Given the description of an element on the screen output the (x, y) to click on. 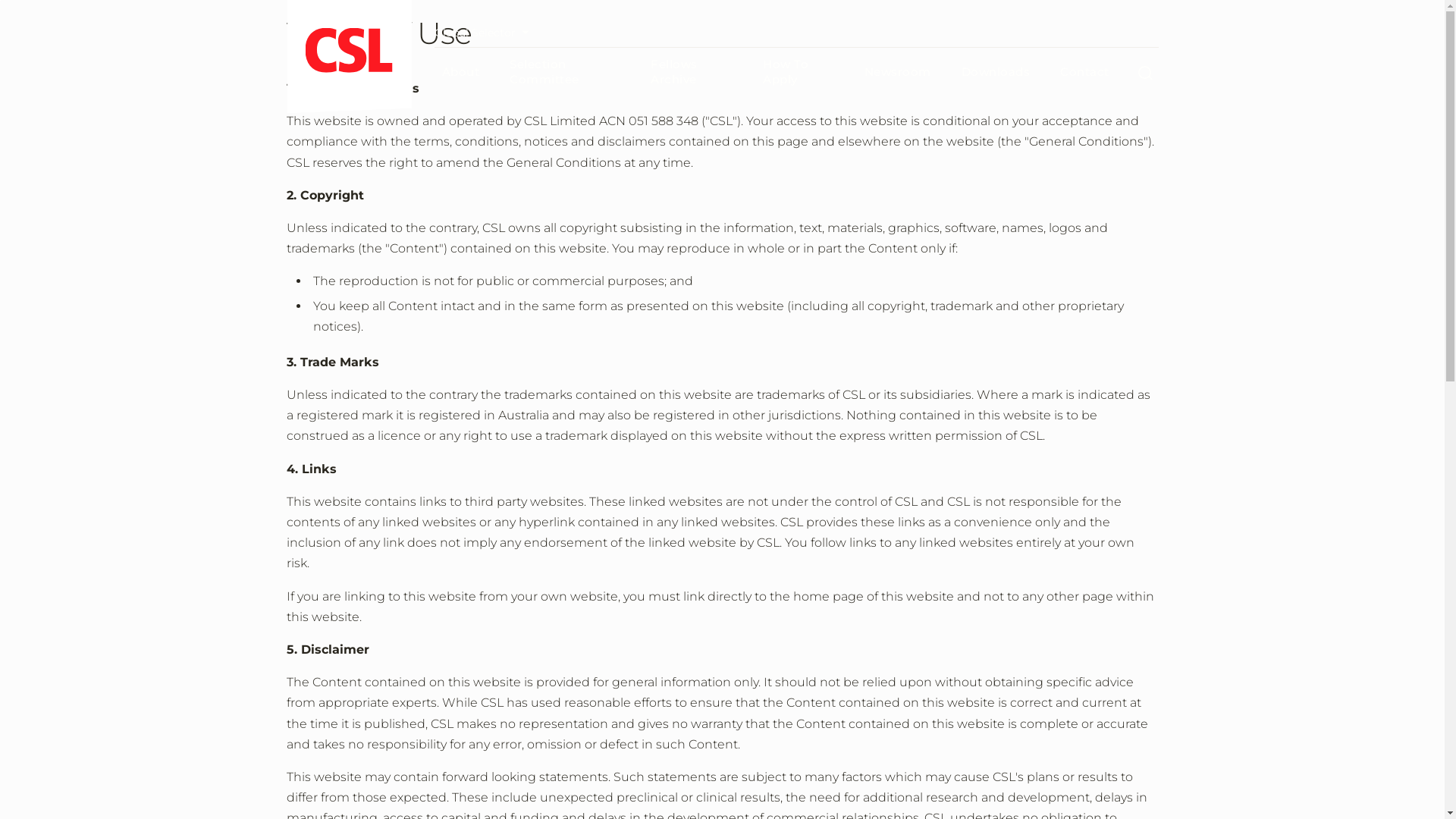
Skip to main content Element type: text (0, 0)
About Element type: text (459, 71)
Newsroom Element type: text (897, 71)
Contact Element type: text (1084, 71)
Downloads Element type: text (995, 71)
Fellows Archive Element type: text (691, 71)
Selection Committee Element type: text (564, 71)
How To Apply Element type: text (797, 71)
Global Selector Element type: text (484, 32)
